Given the description of an element on the screen output the (x, y) to click on. 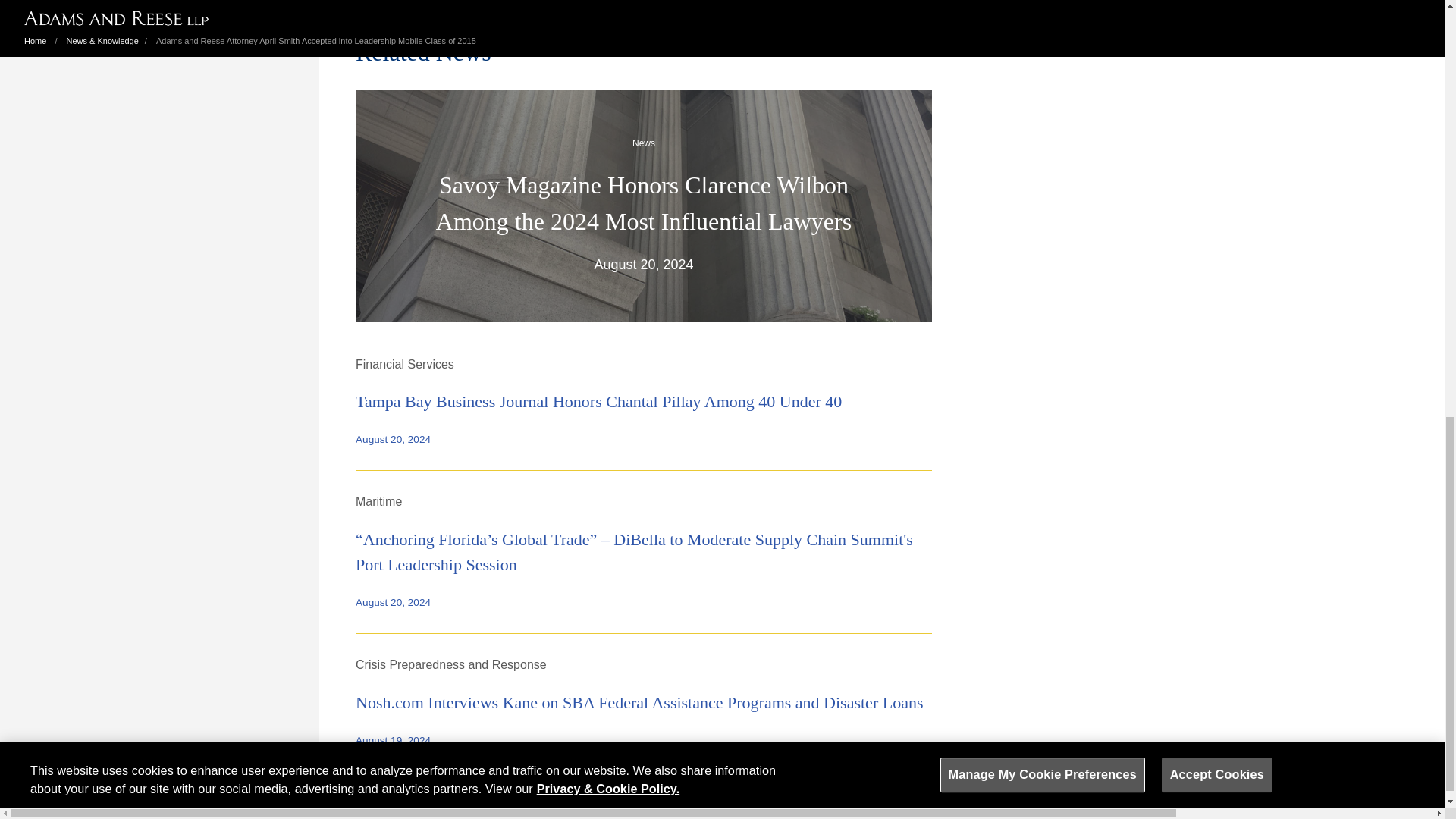
Client Pay (403, 788)
YouTube (801, 788)
Maritime (378, 501)
Contact (346, 788)
Financial Services (404, 364)
Disclaimer (468, 788)
Crisis Preparedness and Response (451, 664)
LinkedIn (746, 788)
